Given the description of an element on the screen output the (x, y) to click on. 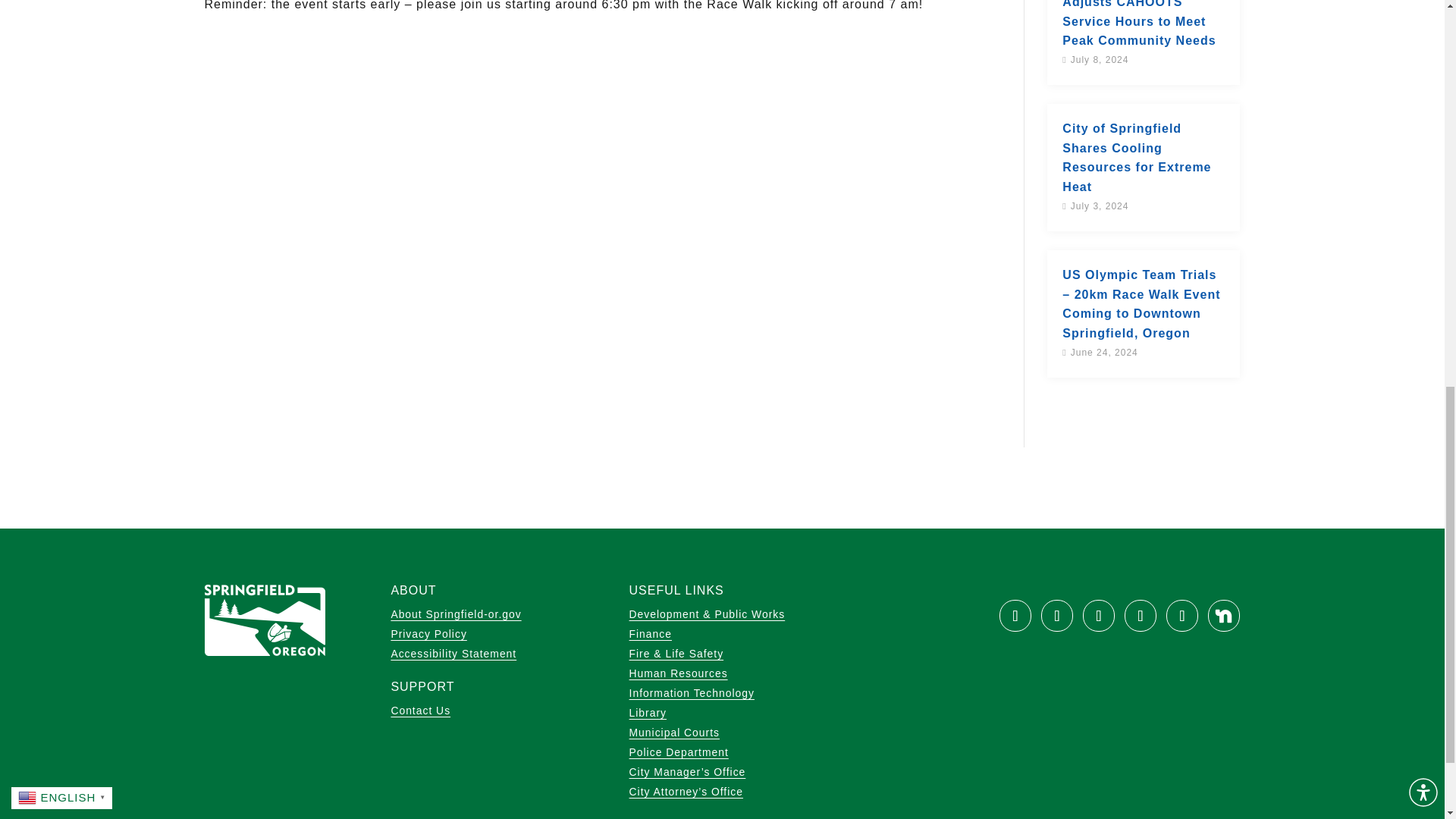
Follow on LinkedIn (1182, 615)
Follow on Facebook (1014, 615)
Follow on Nextdoor (1224, 615)
Follow on X (1057, 615)
logo-SpringfieldOregon-white (264, 620)
Follow on Youtube (1099, 615)
Follow on Instagram (1140, 615)
